Given the description of an element on the screen output the (x, y) to click on. 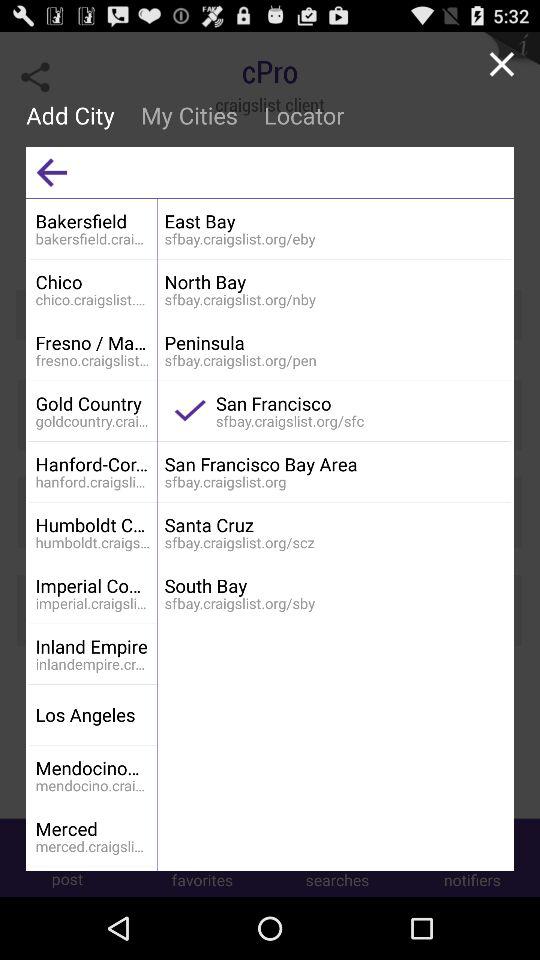
launch the imperial county app (92, 585)
